Given the description of an element on the screen output the (x, y) to click on. 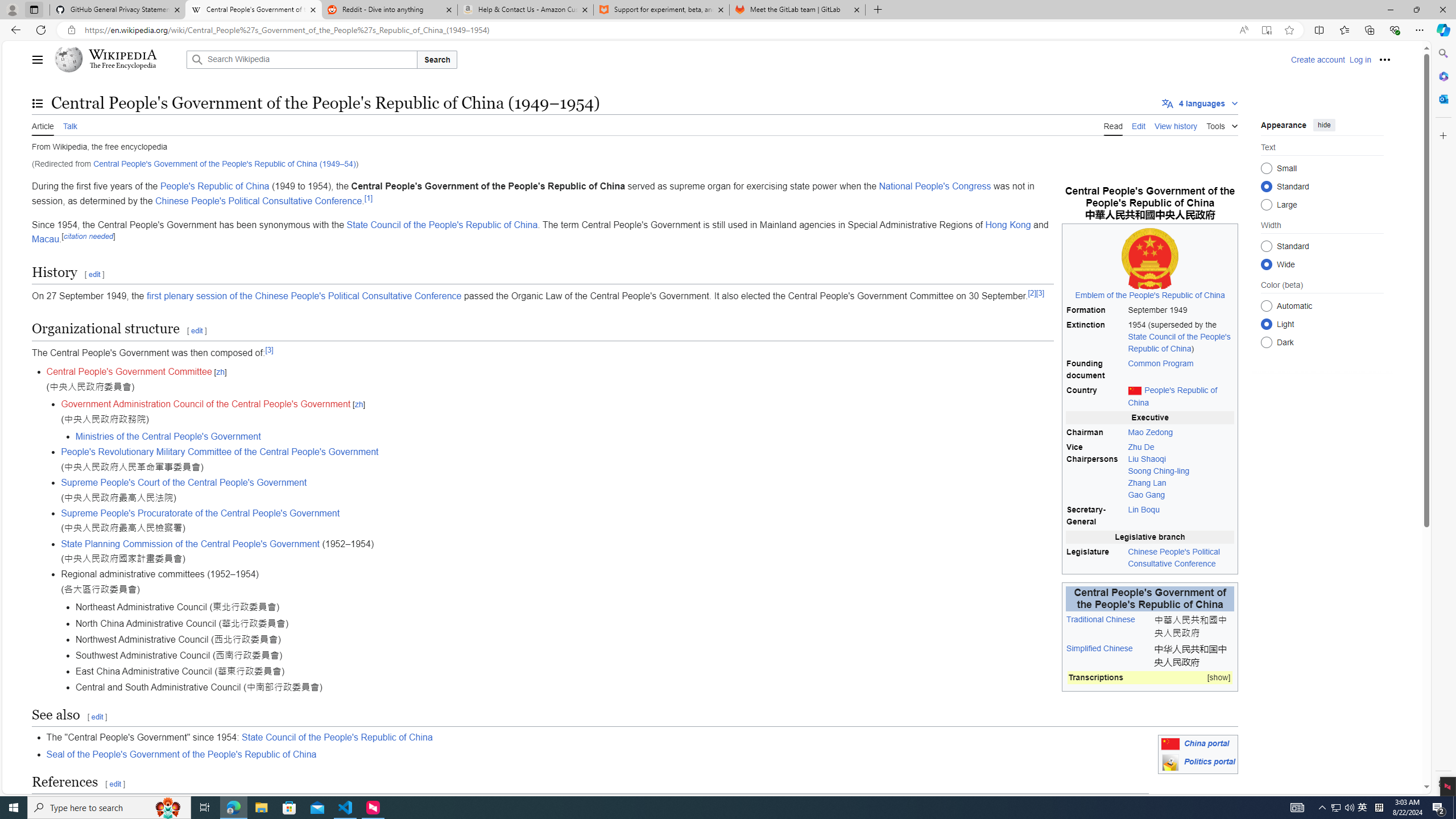
citation needed (88, 235)
Dark (1266, 341)
Liu Shaoqi (1147, 458)
[show] (1218, 677)
Log in (1360, 58)
China portal (1206, 743)
Zhu De (1141, 446)
